Given the description of an element on the screen output the (x, y) to click on. 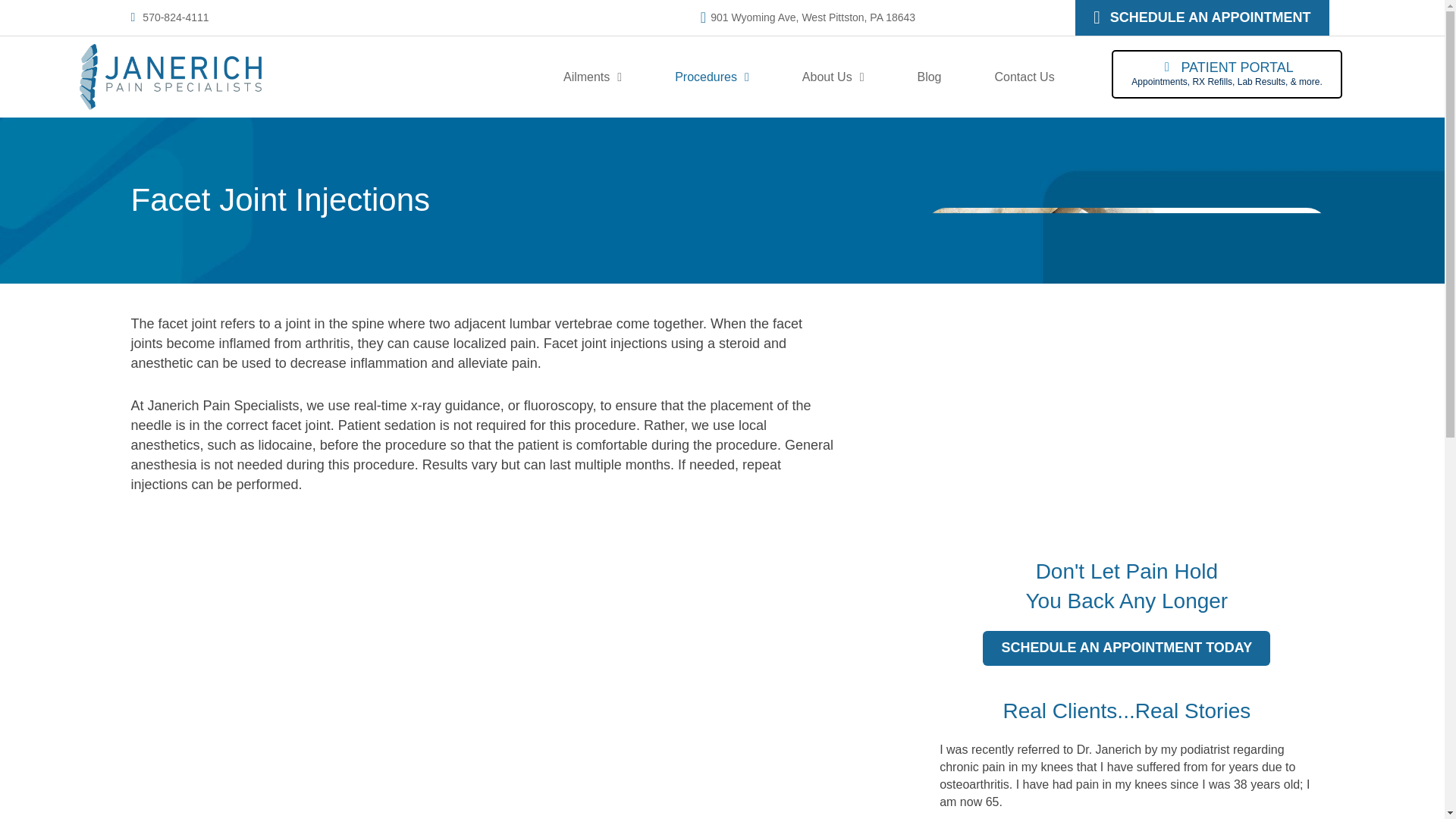
Blog (928, 76)
logo-janerich-pain-specialists (169, 76)
901 Wyoming Ave, West Pittston, PA 18643 (812, 17)
Procedures (711, 76)
SCHEDULE AN APPOINTMENT (1201, 18)
Facet-Joint-Injections (1125, 359)
About Us (832, 76)
Contact Us (1024, 76)
570-824-4111 (175, 17)
Ailments (592, 76)
